Given the description of an element on the screen output the (x, y) to click on. 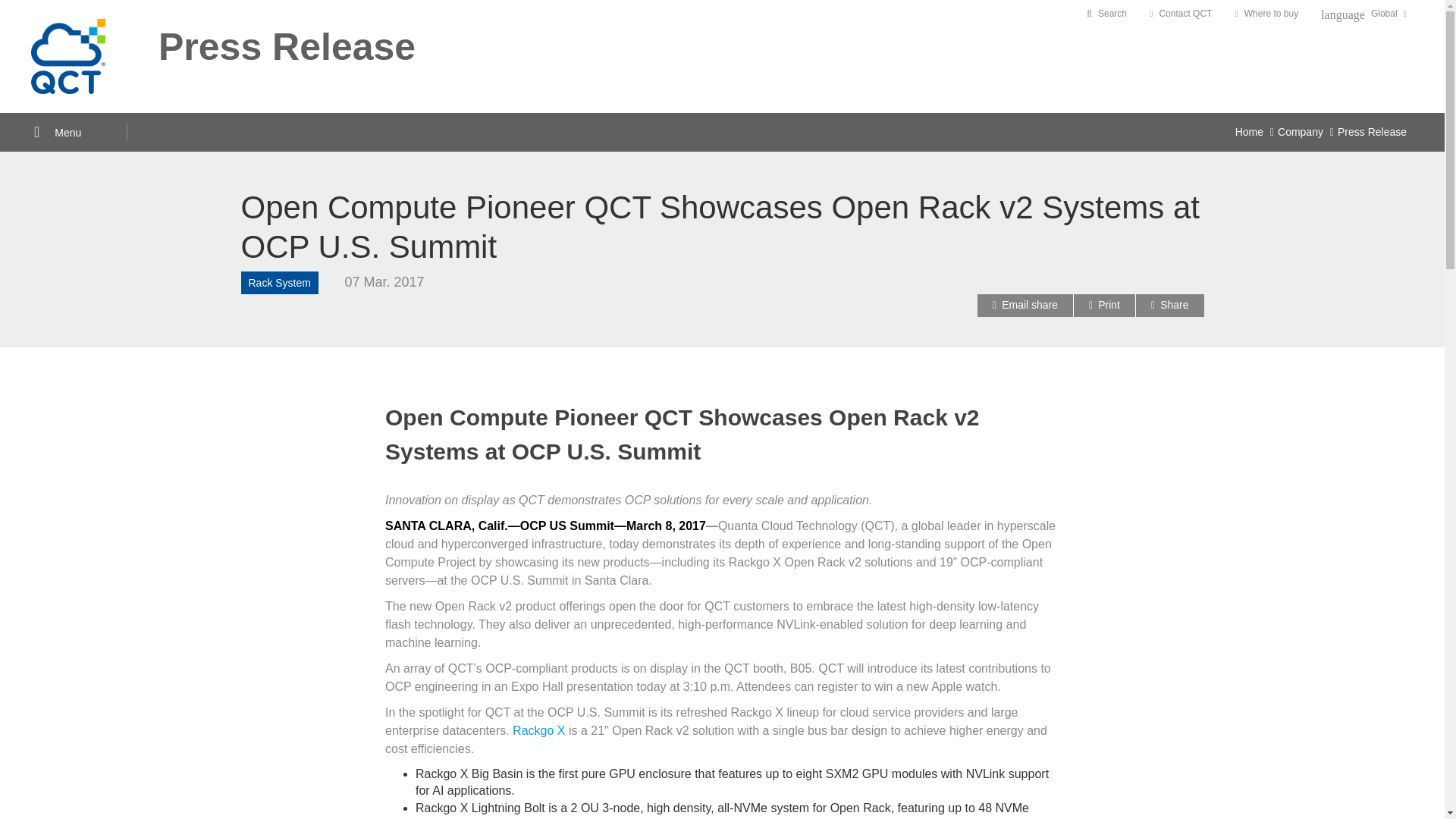
QCT (67, 56)
